Given the description of an element on the screen output the (x, y) to click on. 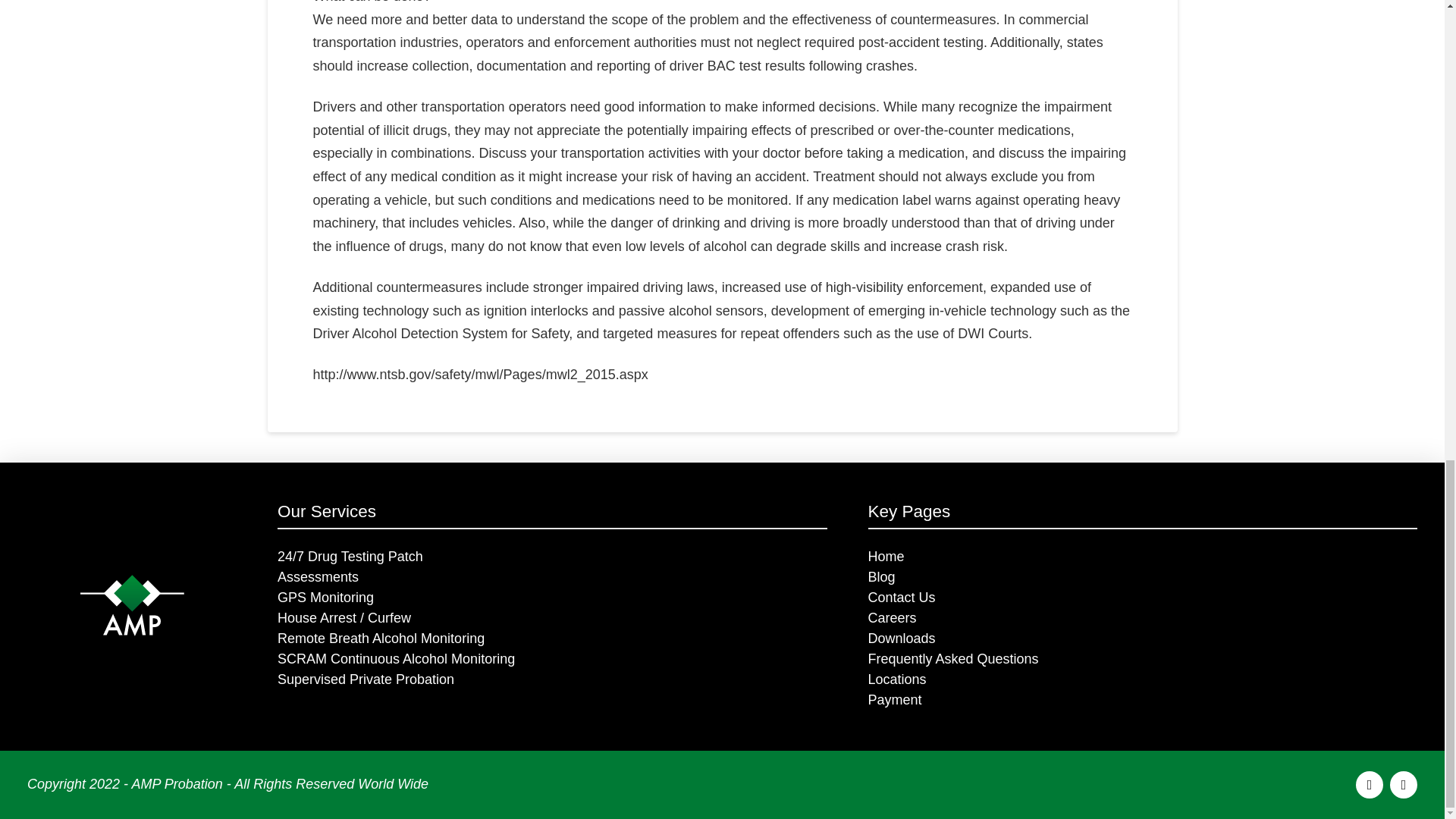
GPS Monitoring (552, 597)
Remote Breath Alcohol Monitoring (552, 638)
Assessments (552, 576)
